Given the description of an element on the screen output the (x, y) to click on. 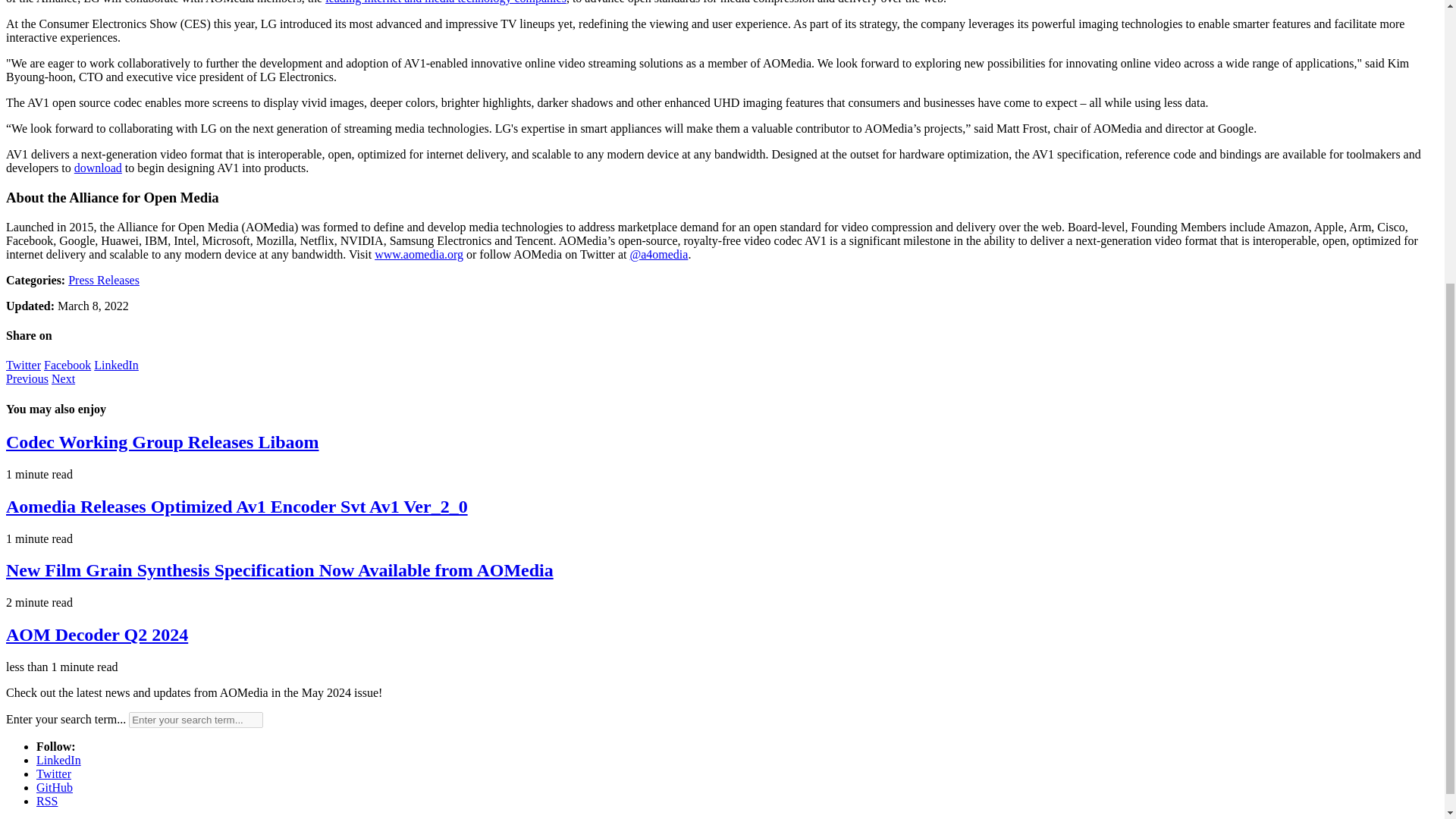
GitHub (54, 787)
RSS (47, 800)
LinkedIn (58, 759)
AOM Decoder Q2 2024 (96, 634)
Press Releases (103, 279)
www.aomedia.org (418, 254)
Twitter (22, 364)
Previous (26, 378)
download (98, 167)
Next (62, 378)
Share on Twitter (22, 364)
Share on Facebook (66, 364)
Codec Working Group Releases Libaom (161, 442)
Facebook (66, 364)
